Given the description of an element on the screen output the (x, y) to click on. 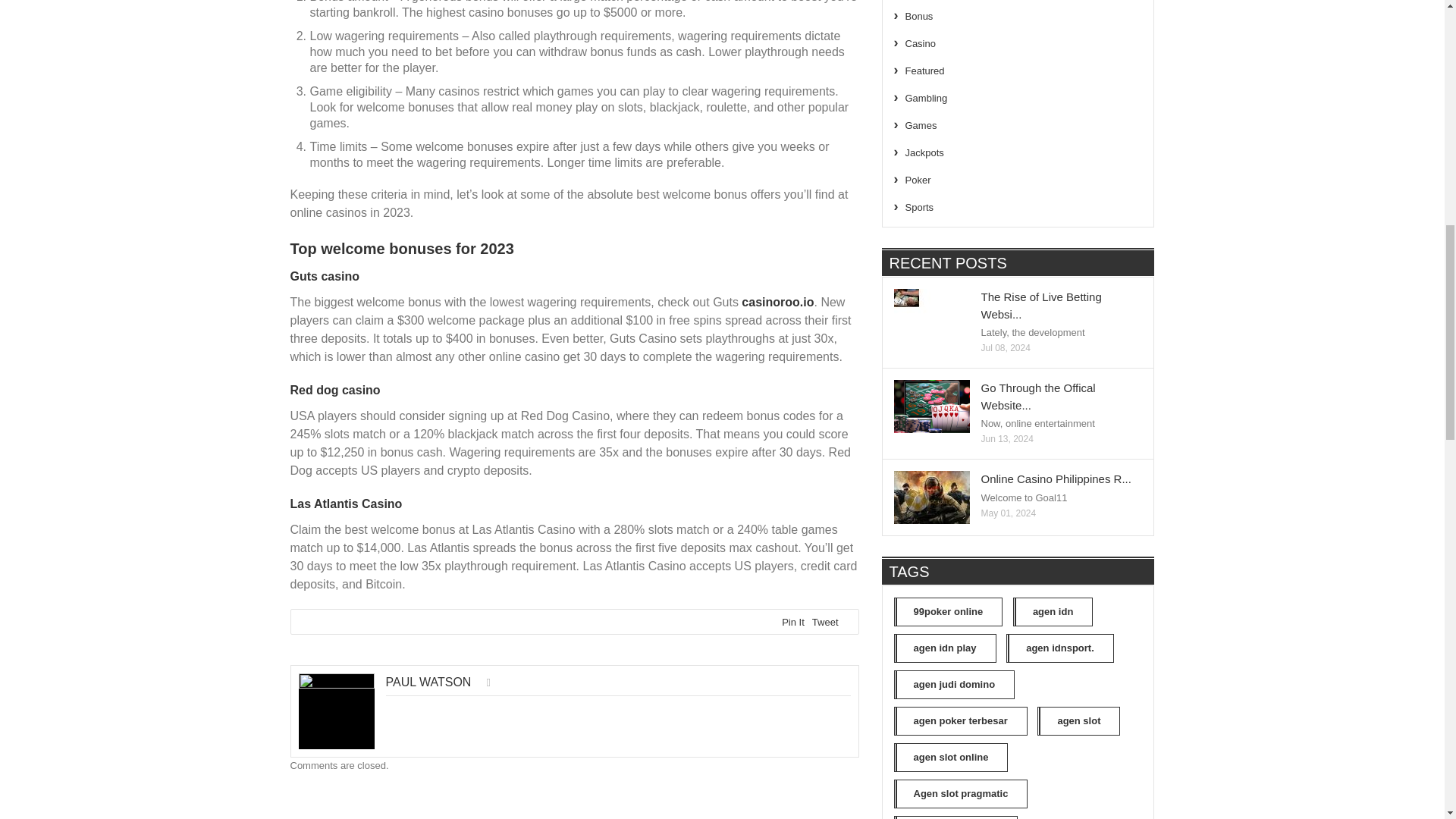
casinoroo.io (777, 301)
Bonus (919, 16)
Sports (919, 206)
Pin It (793, 622)
Poker (918, 179)
Featured (924, 70)
Go Through the Offical Website... (1038, 396)
Gambling (926, 98)
The Rise of Live Betting Websi... (1041, 305)
Tweet (825, 622)
Games (921, 125)
Casino (920, 43)
PAUL WATSON (427, 681)
Jackpots (924, 152)
